Given the description of an element on the screen output the (x, y) to click on. 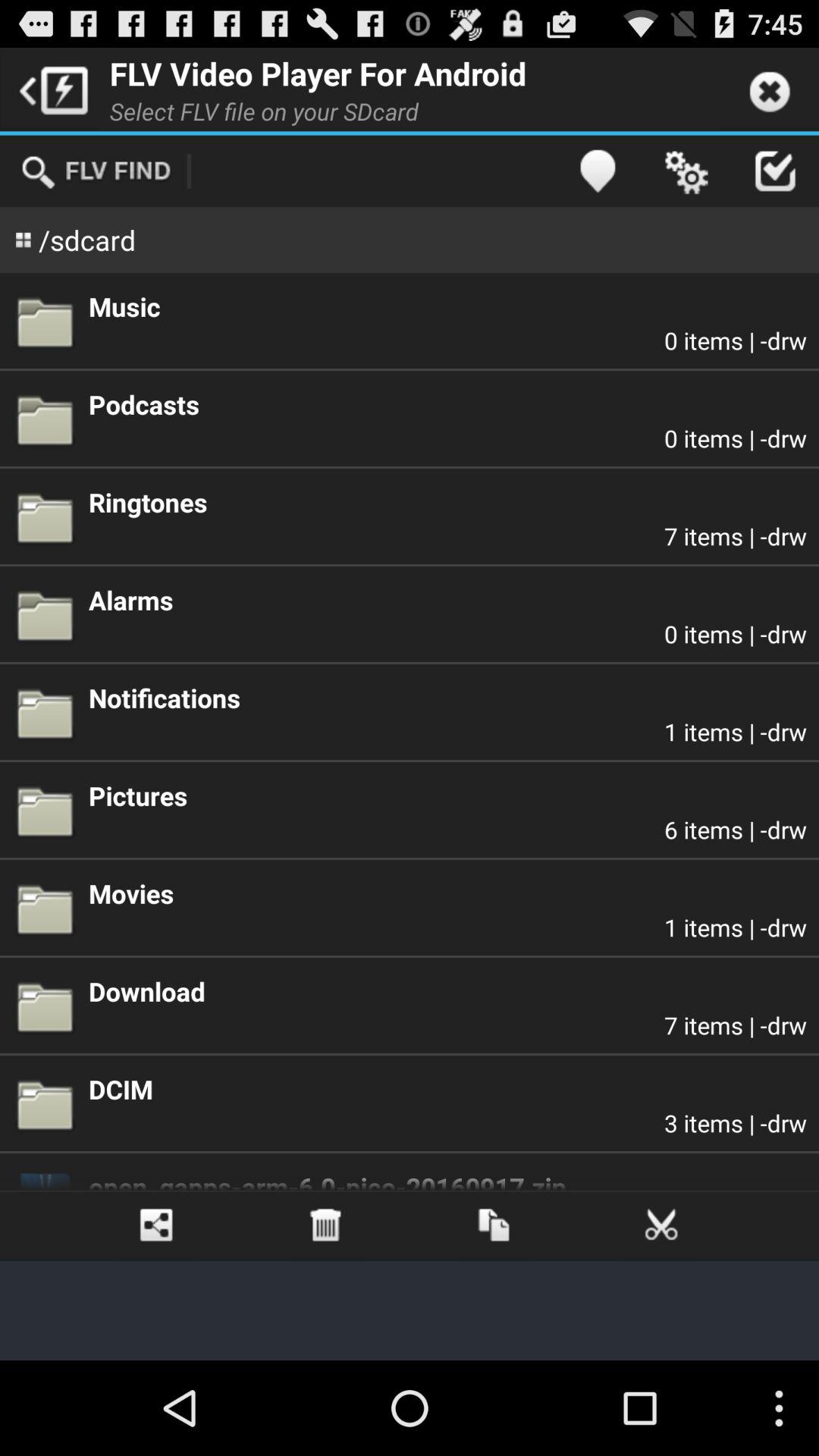
press icon below open_gapps arm 6 app (661, 1225)
